Given the description of an element on the screen output the (x, y) to click on. 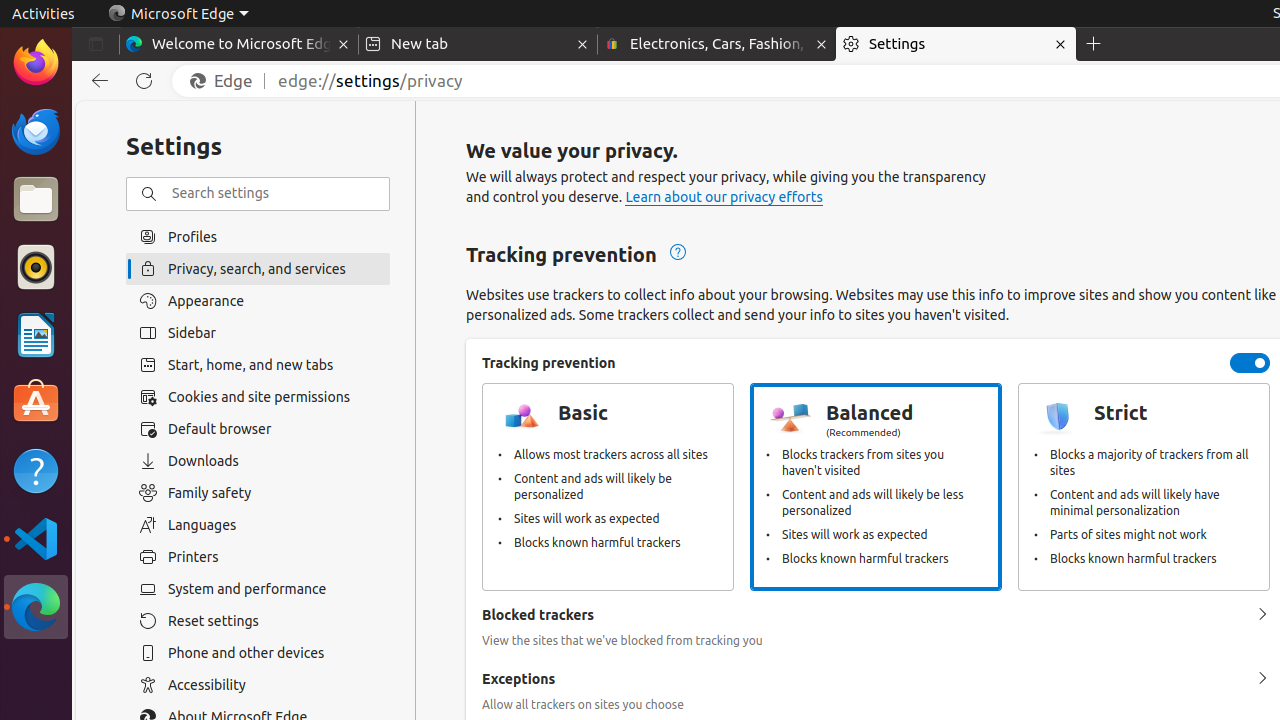
Default browser Element type: tree-item (258, 429)
Phone and other devices Element type: tree-item (258, 653)
Close tab Element type: push-button (343, 44)
Electronics, Cars, Fashion, Collectibles & More | eBay Element type: page-tab (717, 44)
Firefox Web Browser Element type: push-button (36, 63)
